Given the description of an element on the screen output the (x, y) to click on. 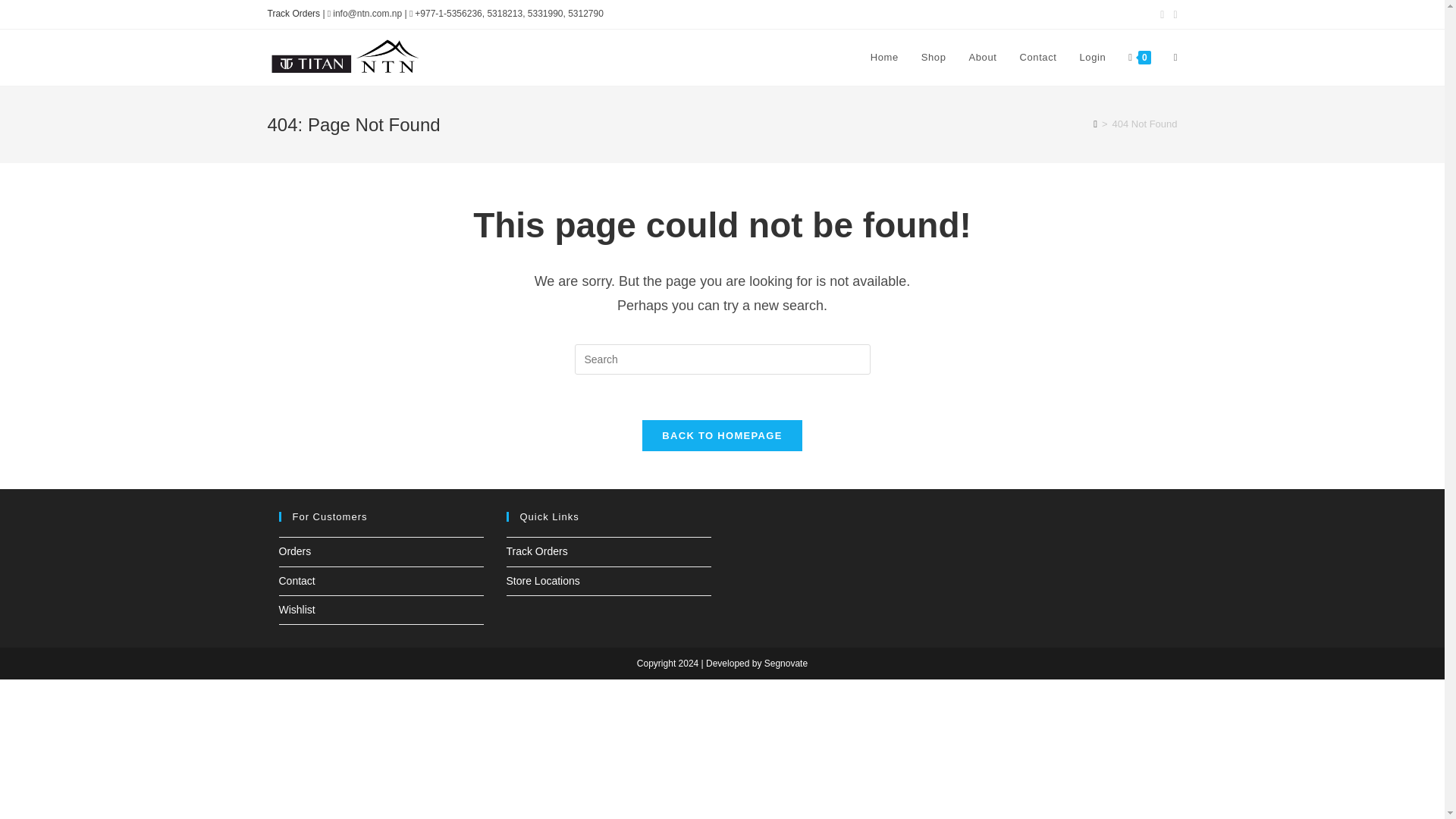
Track Orders (293, 13)
About (981, 57)
Track Orders (536, 551)
Contact (1037, 57)
Store Locations (542, 580)
Orders (295, 551)
Home (884, 57)
Segnovate (786, 663)
Contact (297, 580)
Wishlist (297, 609)
